Given the description of an element on the screen output the (x, y) to click on. 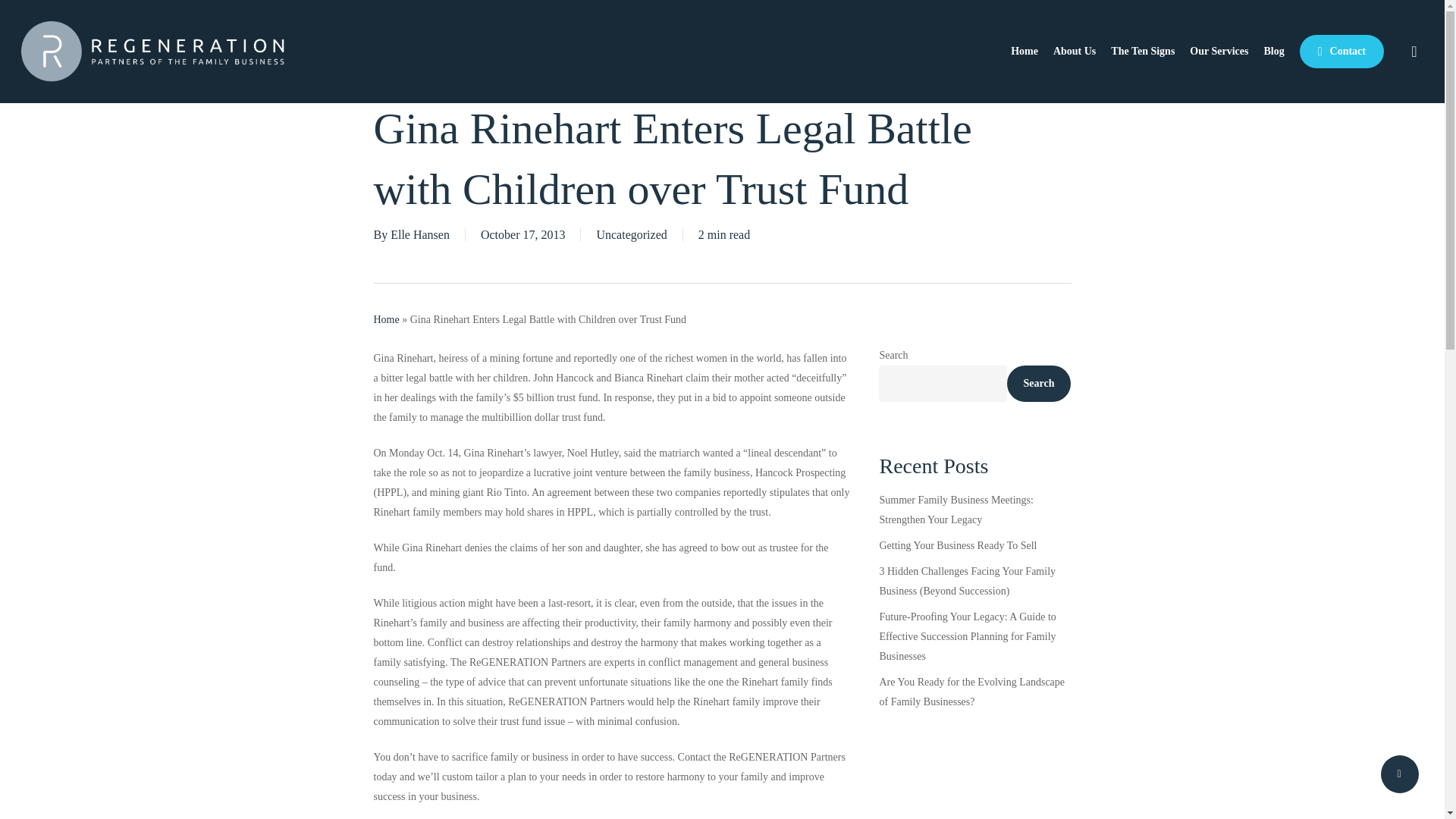
Search (1039, 383)
Summer Family Business Meetings: Strengthen Your Legacy (974, 509)
Home (385, 319)
Getting Your Business Ready To Sell (974, 546)
Uncategorized (630, 234)
Our Services (1218, 51)
search (1414, 51)
Posts by Elle Hansen (419, 234)
Elle Hansen (419, 234)
About Us (1074, 51)
Blog (1273, 51)
Contact (1342, 51)
Home (1024, 51)
